Given the description of an element on the screen output the (x, y) to click on. 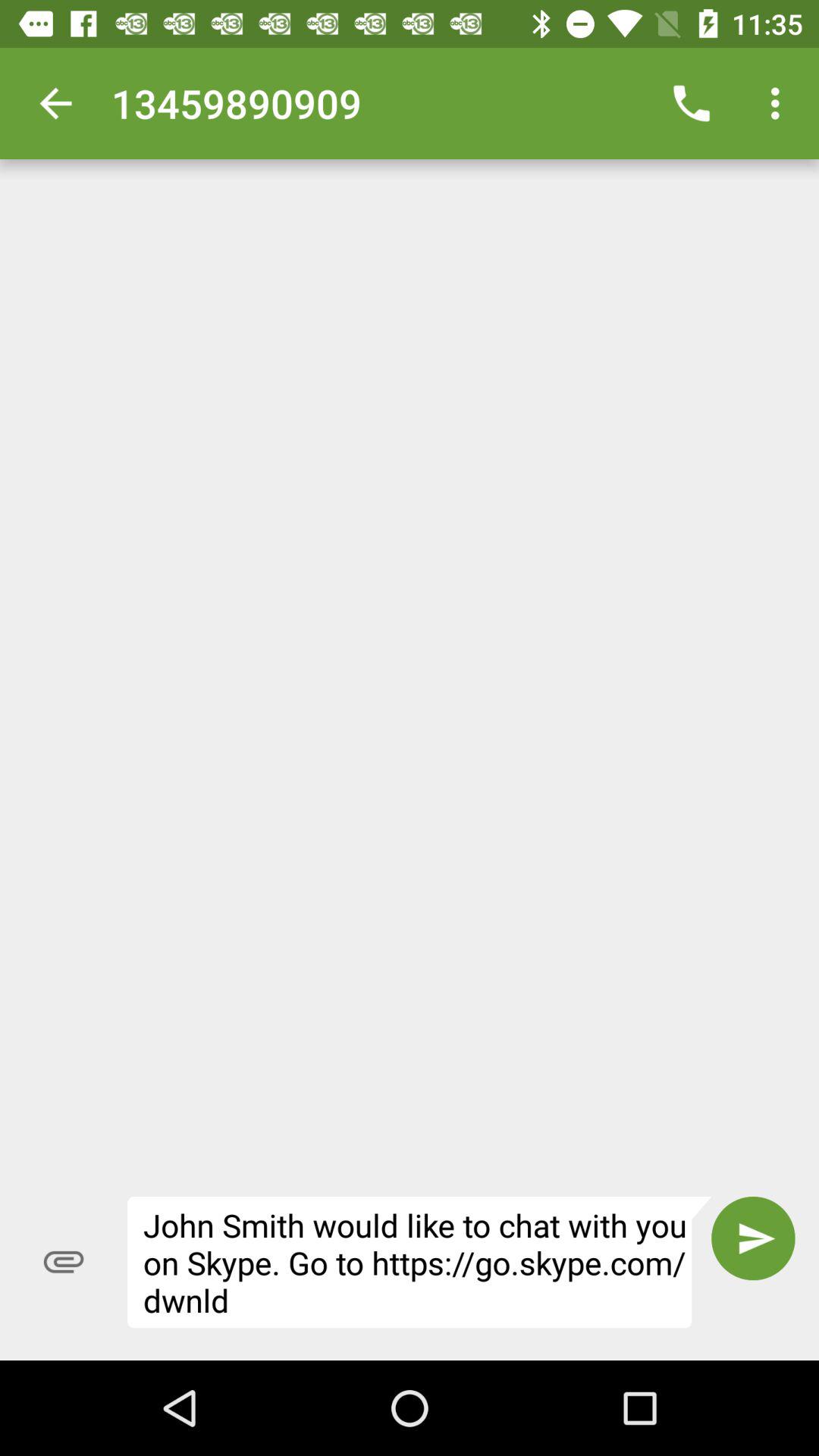
turn on item at the top left corner (55, 103)
